Given the description of an element on the screen output the (x, y) to click on. 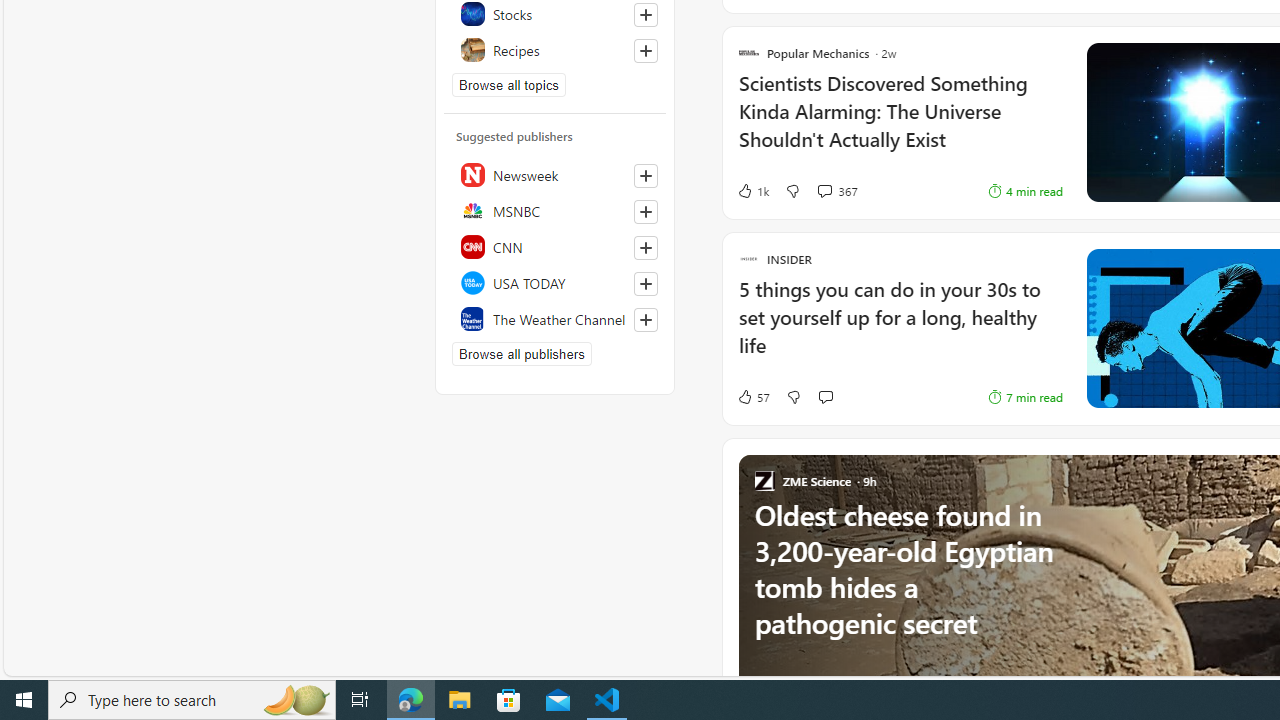
Browse all publishers (521, 353)
Follow this topic (645, 50)
USA TODAY (555, 282)
Recipes (555, 49)
1k Like (752, 191)
Follow this topic (645, 50)
Follow this source (645, 319)
View comments 367 Comment (824, 190)
Follow this source (645, 319)
57 Like (753, 396)
View comments 367 Comment (836, 191)
CNN (555, 246)
